Given the description of an element on the screen output the (x, y) to click on. 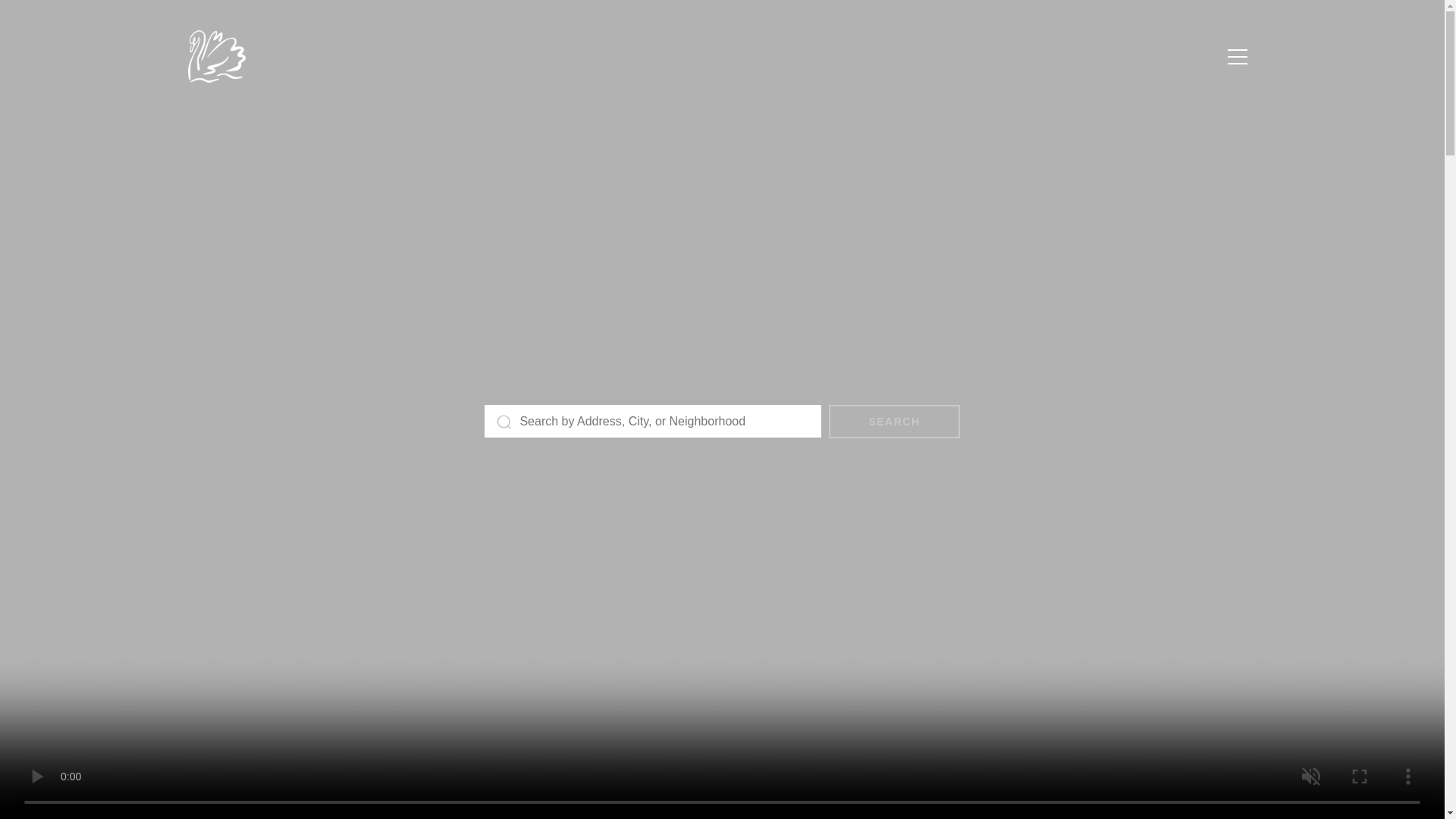
SEARCH (893, 421)
